Given the description of an element on the screen output the (x, y) to click on. 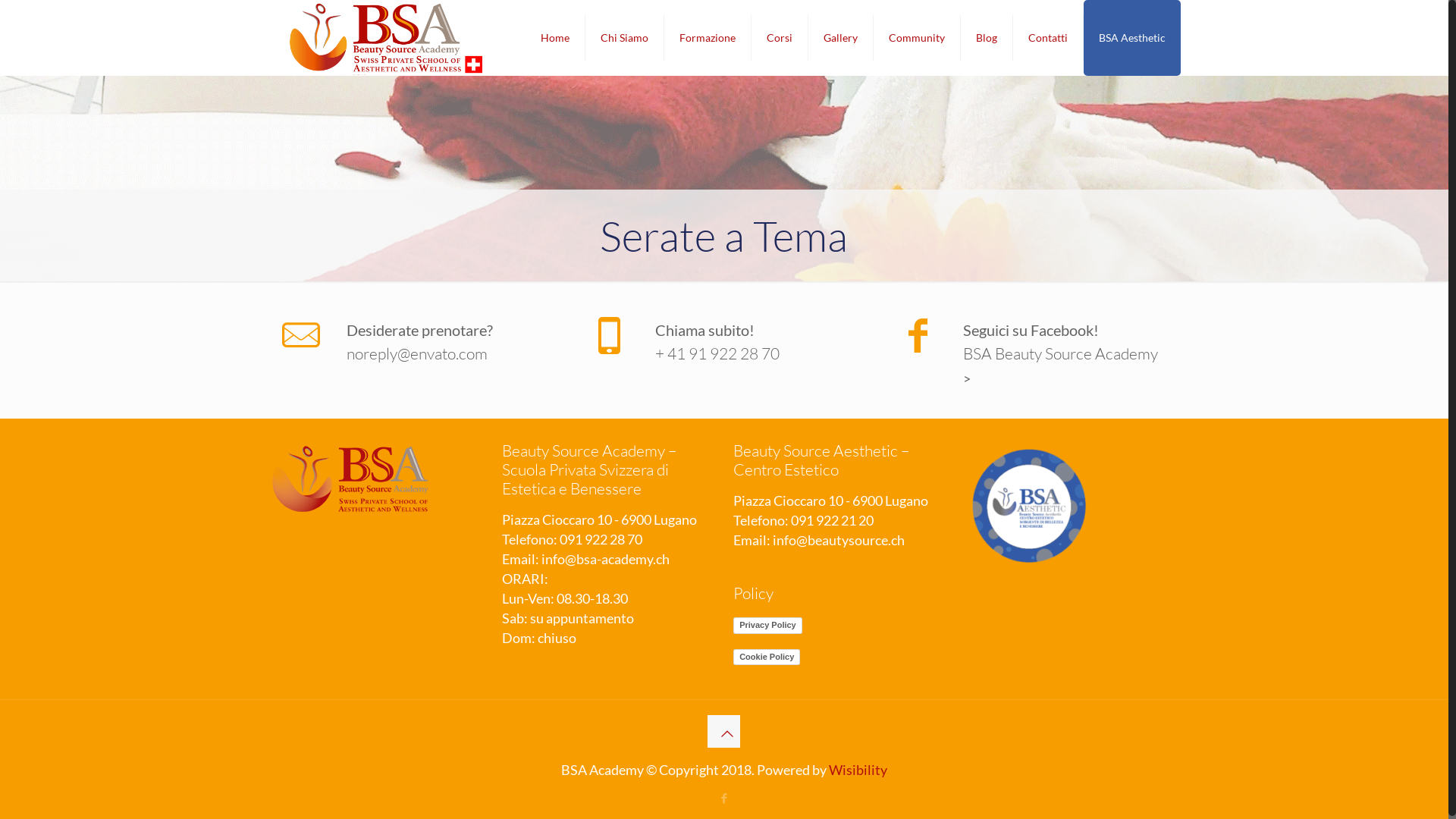
Blog Element type: text (986, 37)
Wisibility Element type: text (857, 769)
Formazione Element type: text (707, 37)
+ 41 91 922 28 70 Element type: text (762, 353)
noreply@envato.com Element type: text (453, 353)
Privacy Policy Element type: text (767, 625)
Corsi Element type: text (779, 37)
Gallery Element type: text (840, 37)
Chi Siamo Element type: text (624, 37)
Home Element type: text (555, 37)
BSA Beauty Source Academy Element type: hover (385, 37)
BSA Aesthetic Element type: text (1131, 37)
Facebook Element type: hover (723, 797)
Community Element type: text (916, 37)
Contatti Element type: text (1048, 37)
BSA Beauty Source Academy Element type: text (1069, 353)
Cookie Policy Element type: text (766, 657)
